Given the description of an element on the screen output the (x, y) to click on. 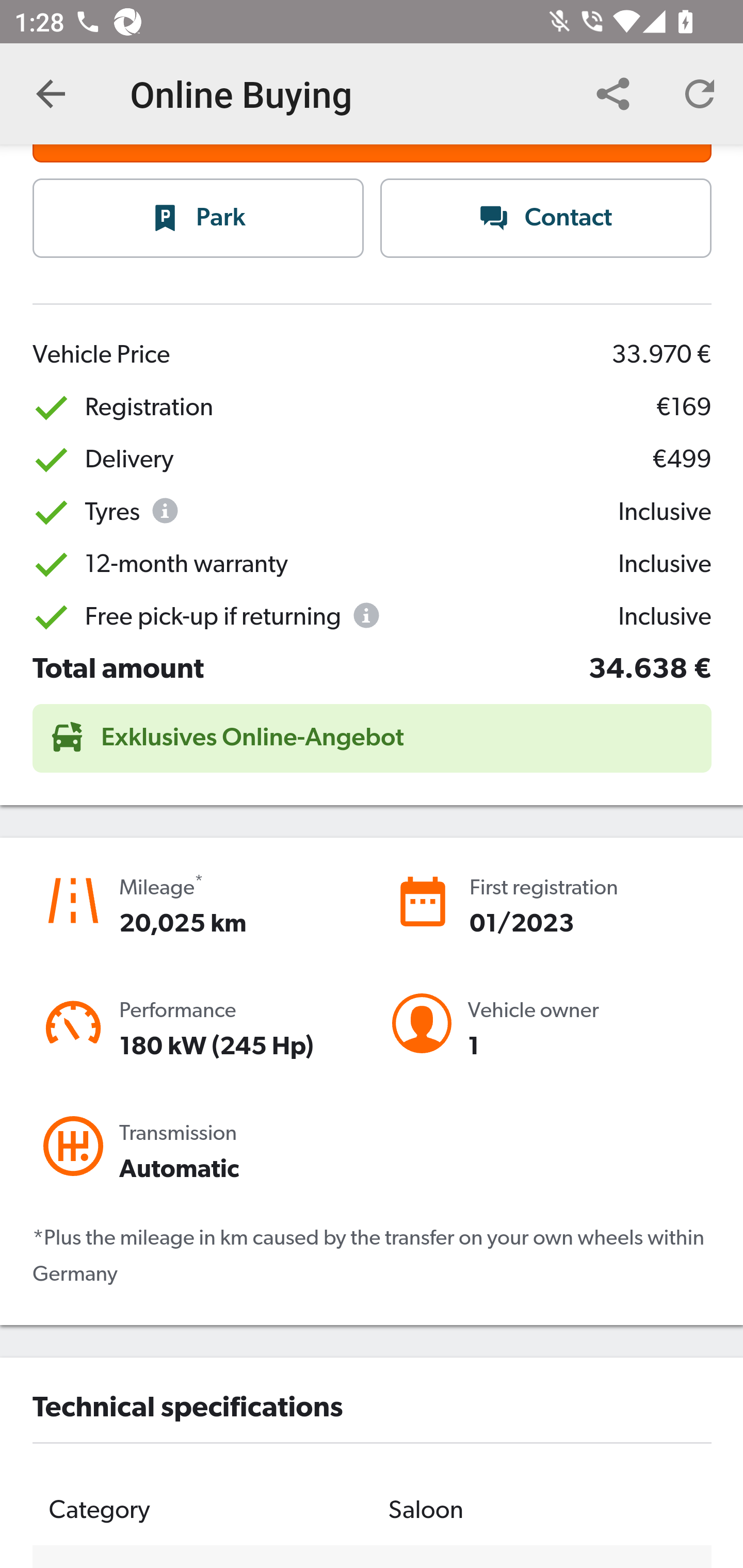
Navigate up (50, 93)
synchronize (612, 93)
synchronize (699, 93)
Park (198, 219)
Contact (545, 219)
